Given the description of an element on the screen output the (x, y) to click on. 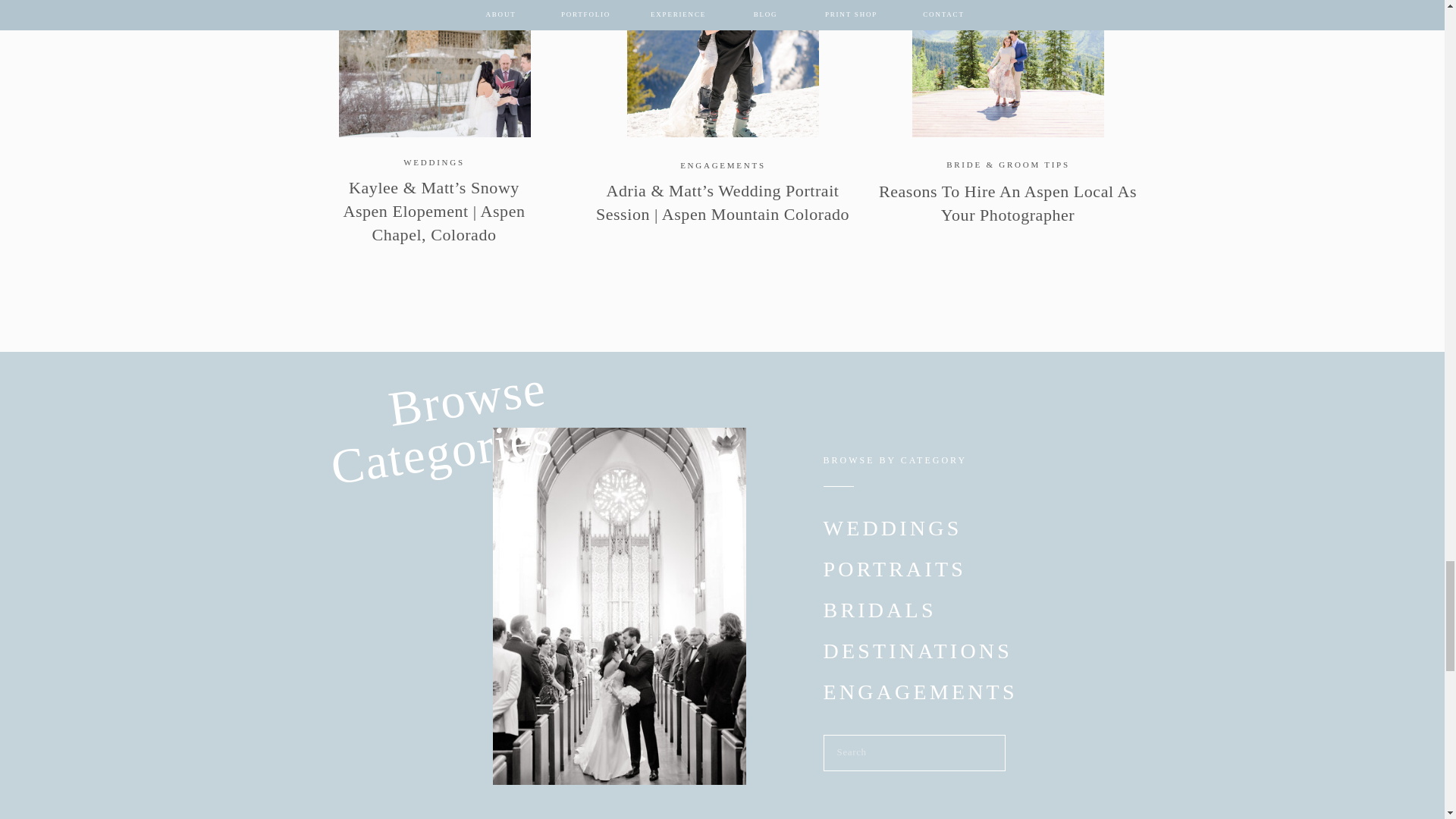
Reasons To Hire An Aspen Local As Your Photographer (1007, 68)
